Given the description of an element on the screen output the (x, y) to click on. 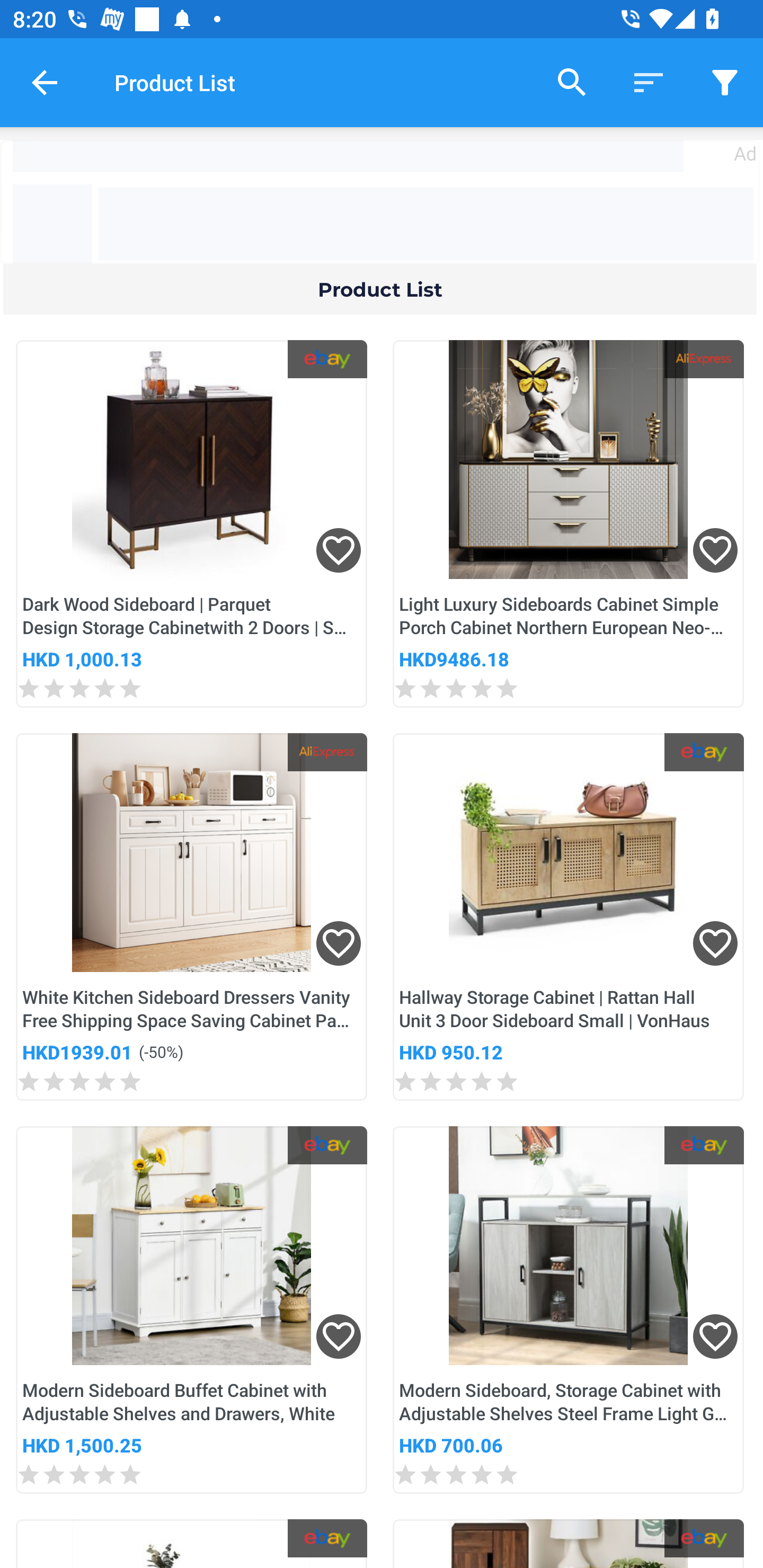
Navigate up (44, 82)
Search (572, 81)
short (648, 81)
short (724, 81)
